Given the description of an element on the screen output the (x, y) to click on. 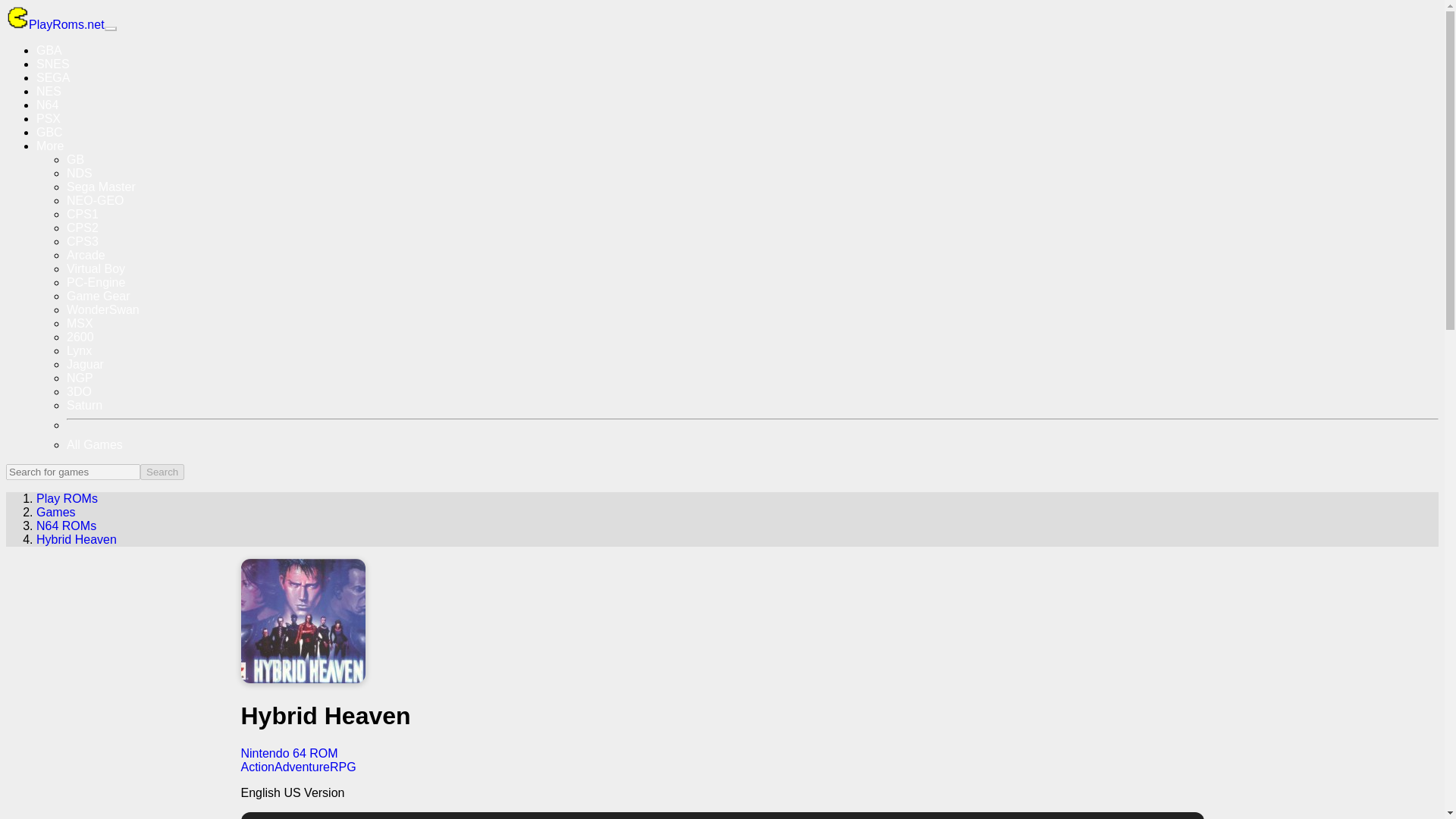
WonderSwan (102, 309)
NES (48, 91)
Saturn (83, 404)
CPS3 (82, 241)
2600 (80, 336)
Play ROMs (66, 498)
Jaguar (84, 364)
GB (75, 159)
PlayRoms.net (54, 24)
Hybrid Heaven (76, 539)
PSX (48, 118)
GBC (49, 132)
SEGA (52, 77)
Sega Master (100, 186)
Arcade (85, 254)
